Given the description of an element on the screen output the (x, y) to click on. 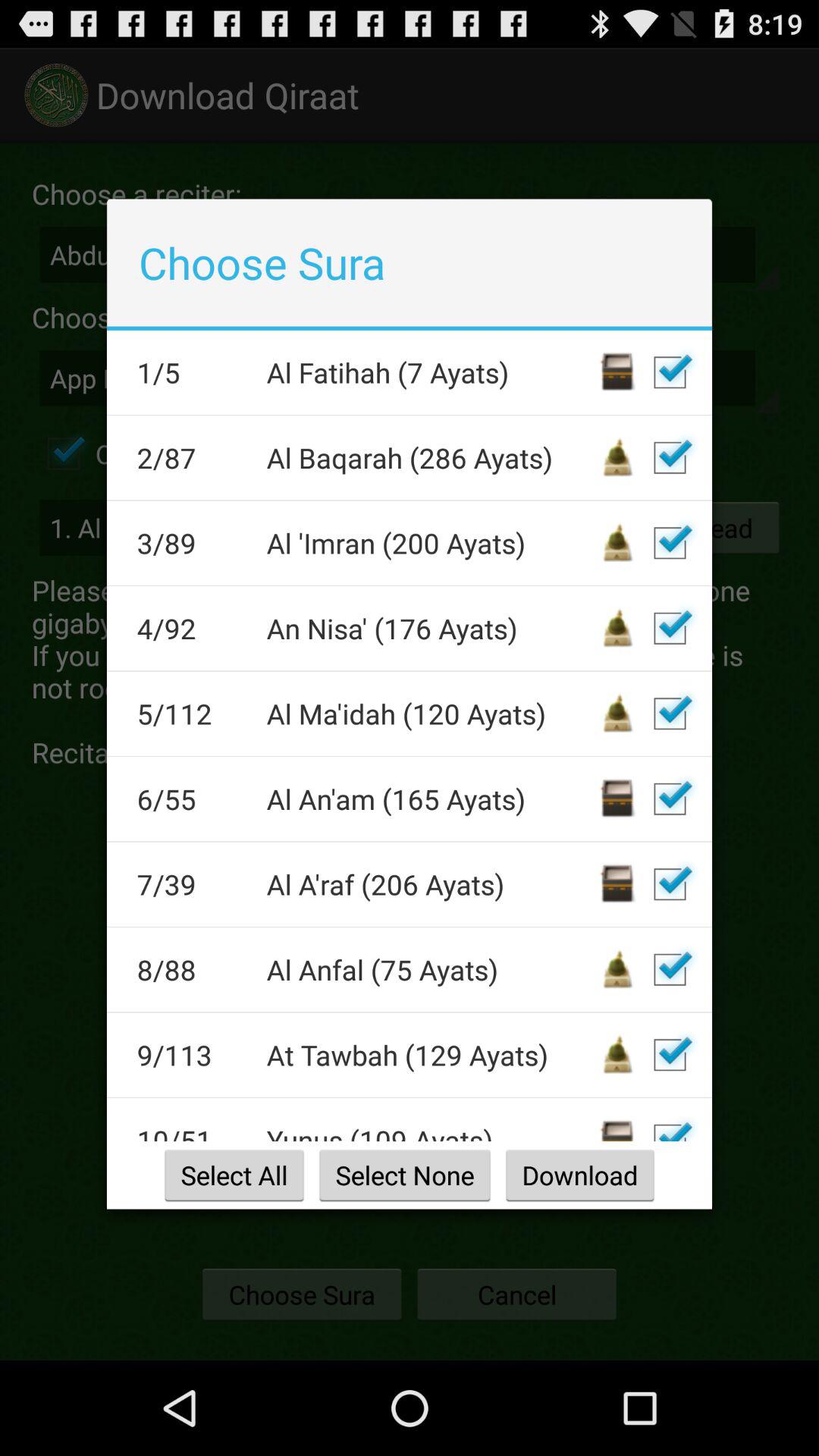
select 6/55 icon (191, 798)
